Given the description of an element on the screen output the (x, y) to click on. 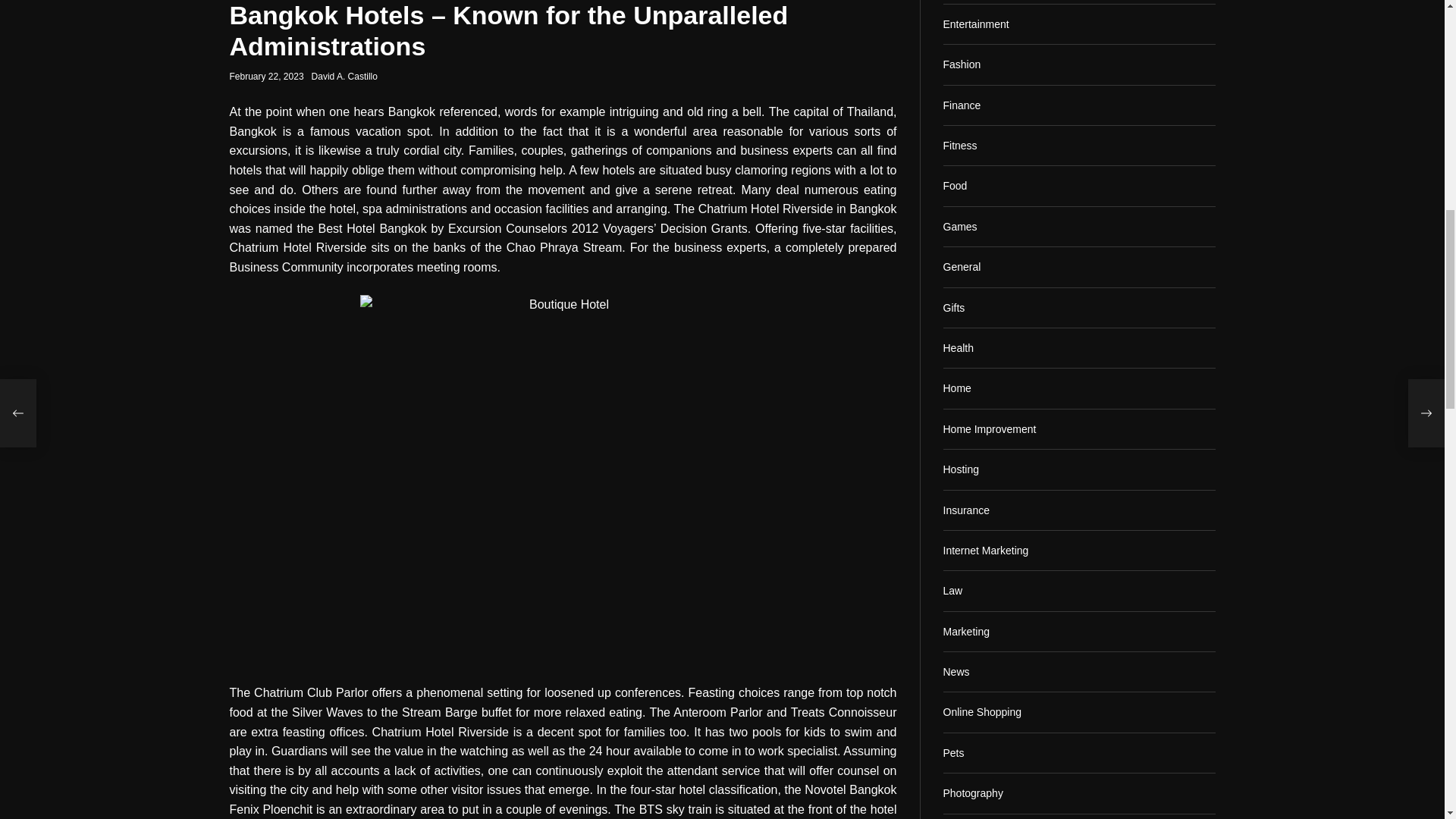
David A. Castillo (303, 643)
boutique hotel Bangkok (324, 271)
David A. Castillo (614, 668)
David A. Castillo (733, 495)
